Given the description of an element on the screen output the (x, y) to click on. 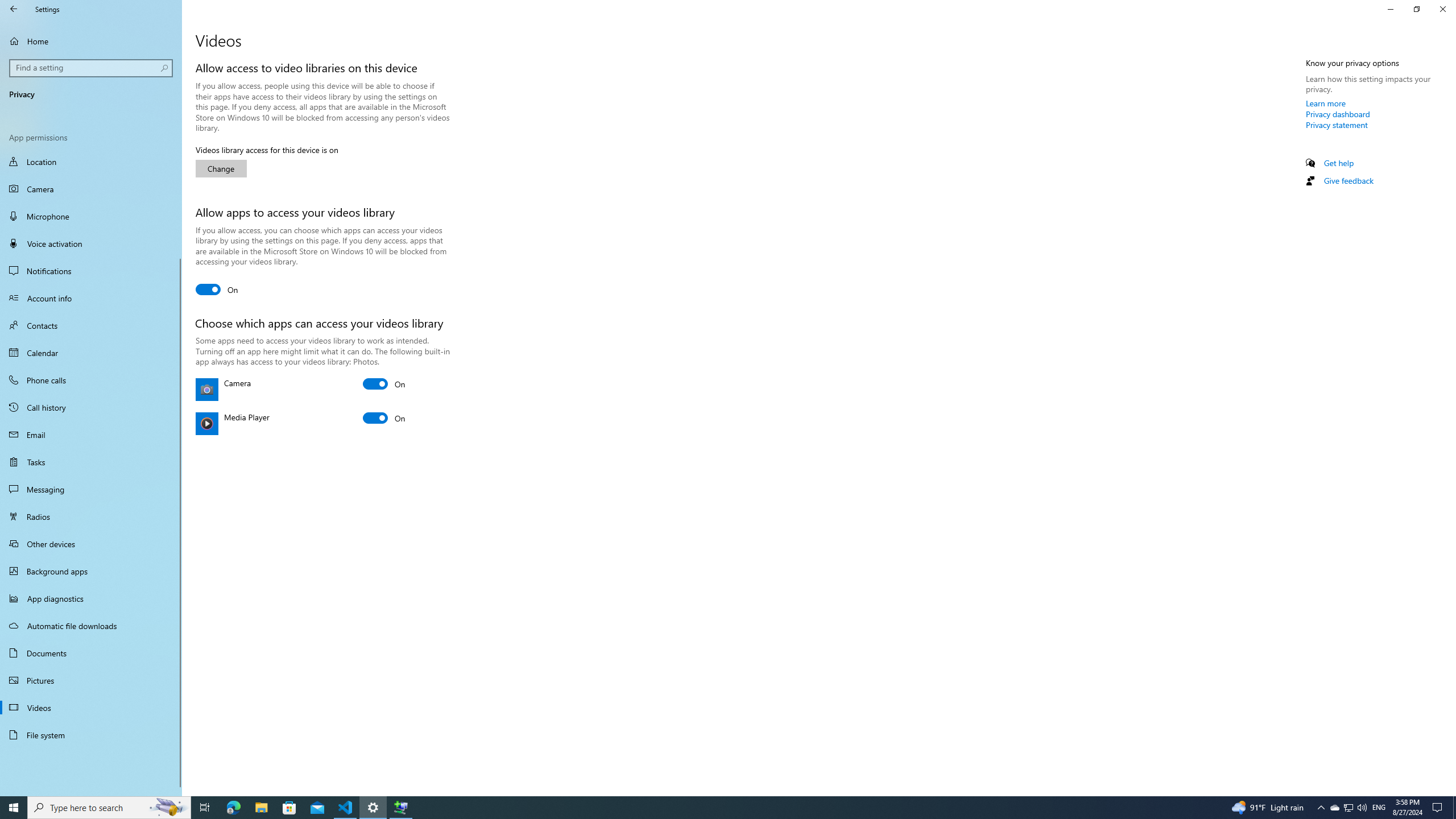
Messaging (91, 488)
Change (221, 168)
Tasks (91, 461)
Voice activation (91, 243)
Extensible Wizards Host Process - 1 running window (400, 807)
App diagnostics (91, 597)
